Given the description of an element on the screen output the (x, y) to click on. 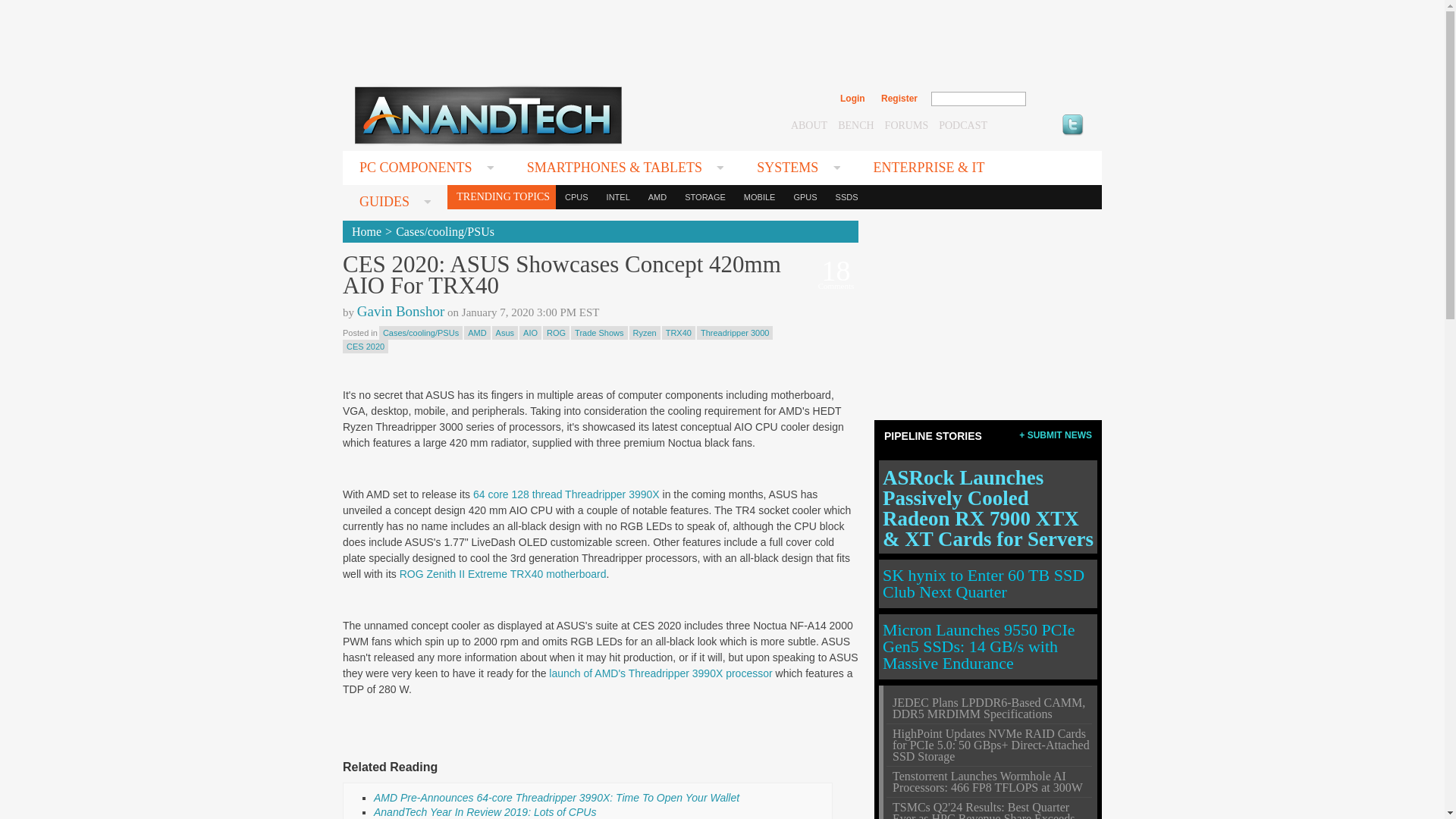
BENCH (855, 125)
ABOUT (808, 125)
Login (852, 98)
search (1059, 98)
PODCAST (963, 125)
Register (898, 98)
search (1059, 98)
FORUMS (906, 125)
search (1059, 98)
